Given the description of an element on the screen output the (x, y) to click on. 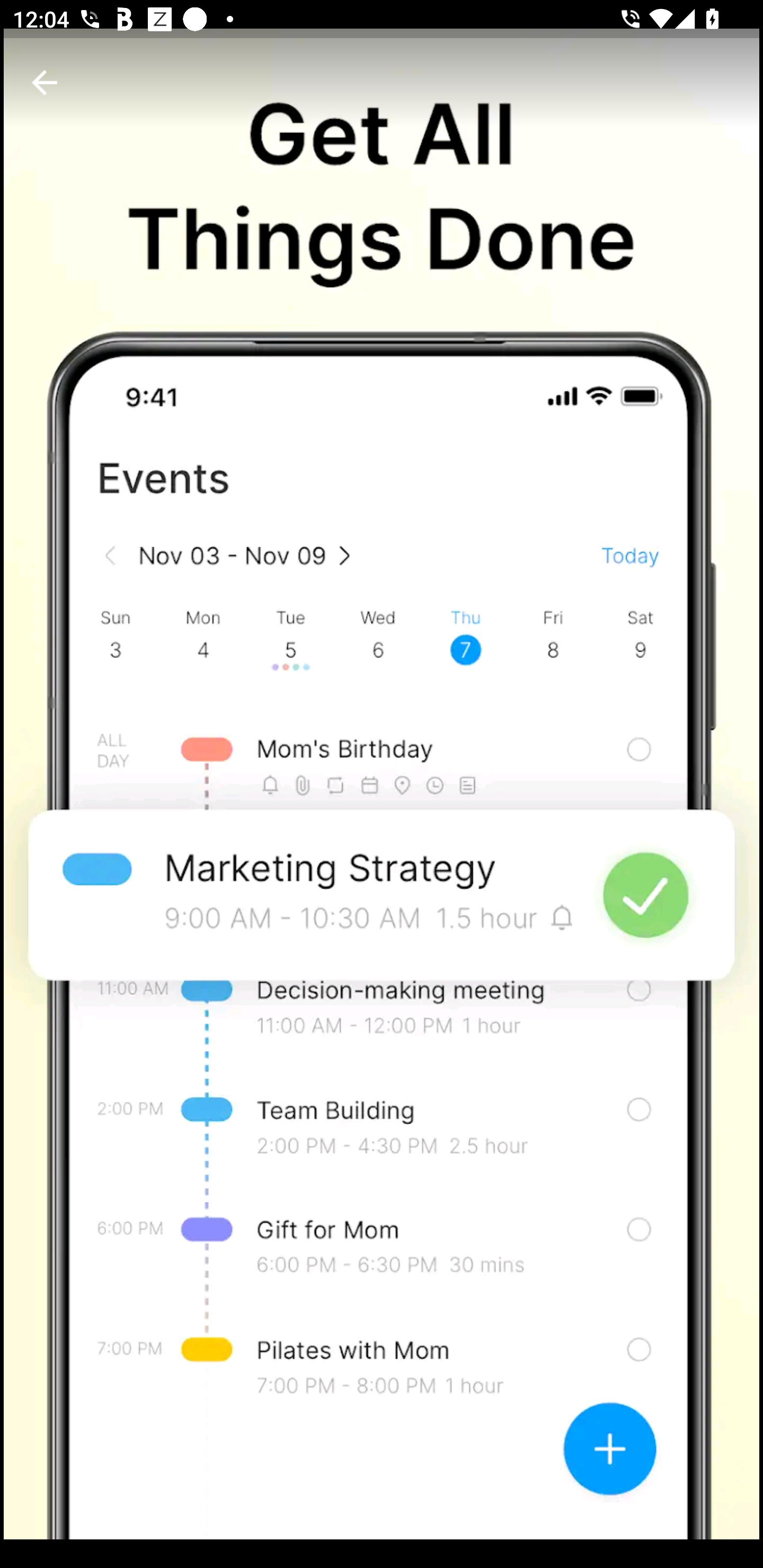
Back (44, 82)
